Given the description of an element on the screen output the (x, y) to click on. 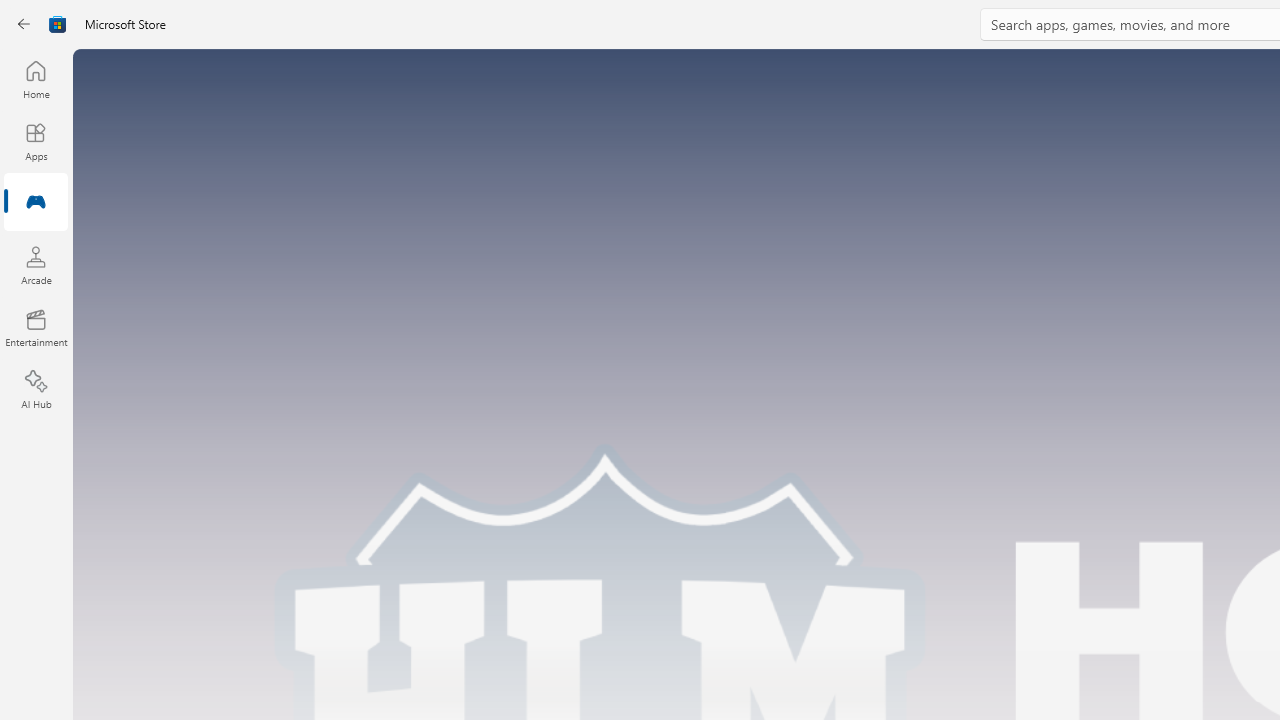
Class: Image (58, 24)
Arcade (35, 265)
Entertainment (35, 327)
Gaming (35, 203)
AI Hub (35, 390)
Home (35, 79)
Back (24, 24)
Apps (35, 141)
